Given the description of an element on the screen output the (x, y) to click on. 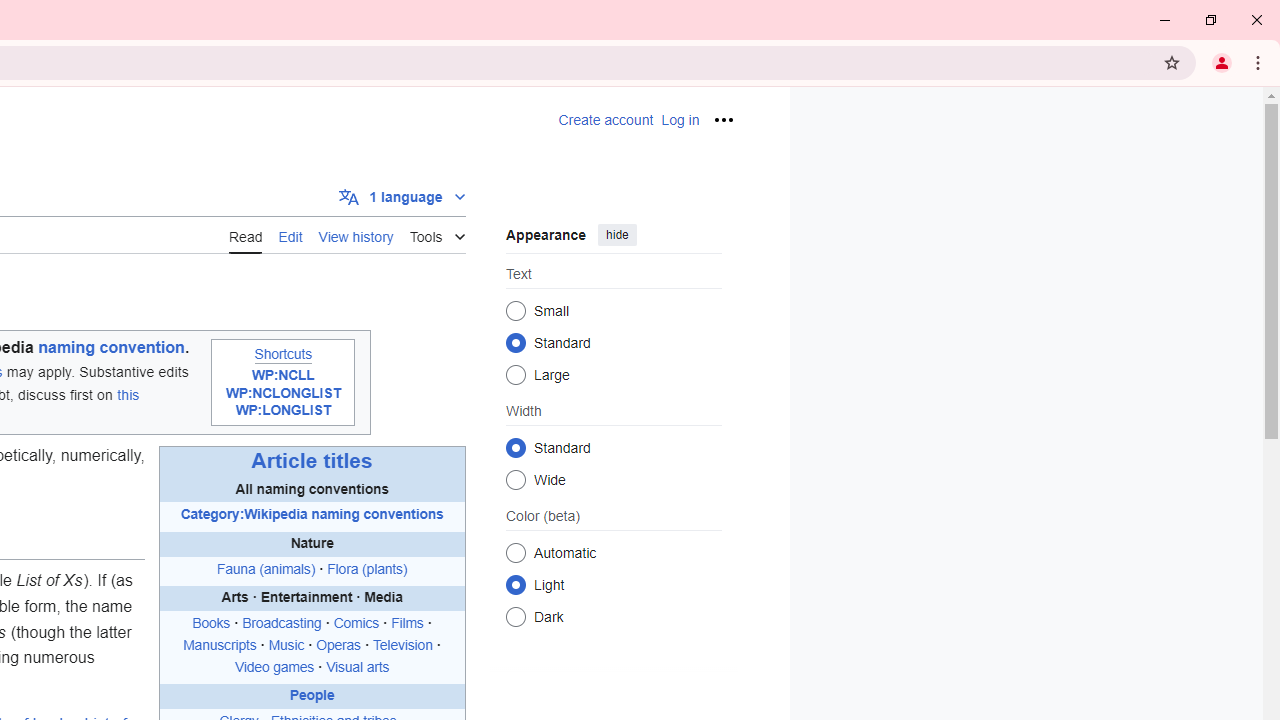
Small (515, 310)
AutomationID: ca-edit (290, 234)
Flora (plants) (367, 568)
AutomationID: pt-login-2 (680, 120)
Video games (274, 666)
WP:LONGLIST (283, 411)
Log in (680, 120)
Tools (437, 233)
Visual arts (358, 666)
Books (211, 624)
Manuscripts (220, 645)
AutomationID: ca-view (245, 234)
WP:NCLL (282, 375)
